Given the description of an element on the screen output the (x, y) to click on. 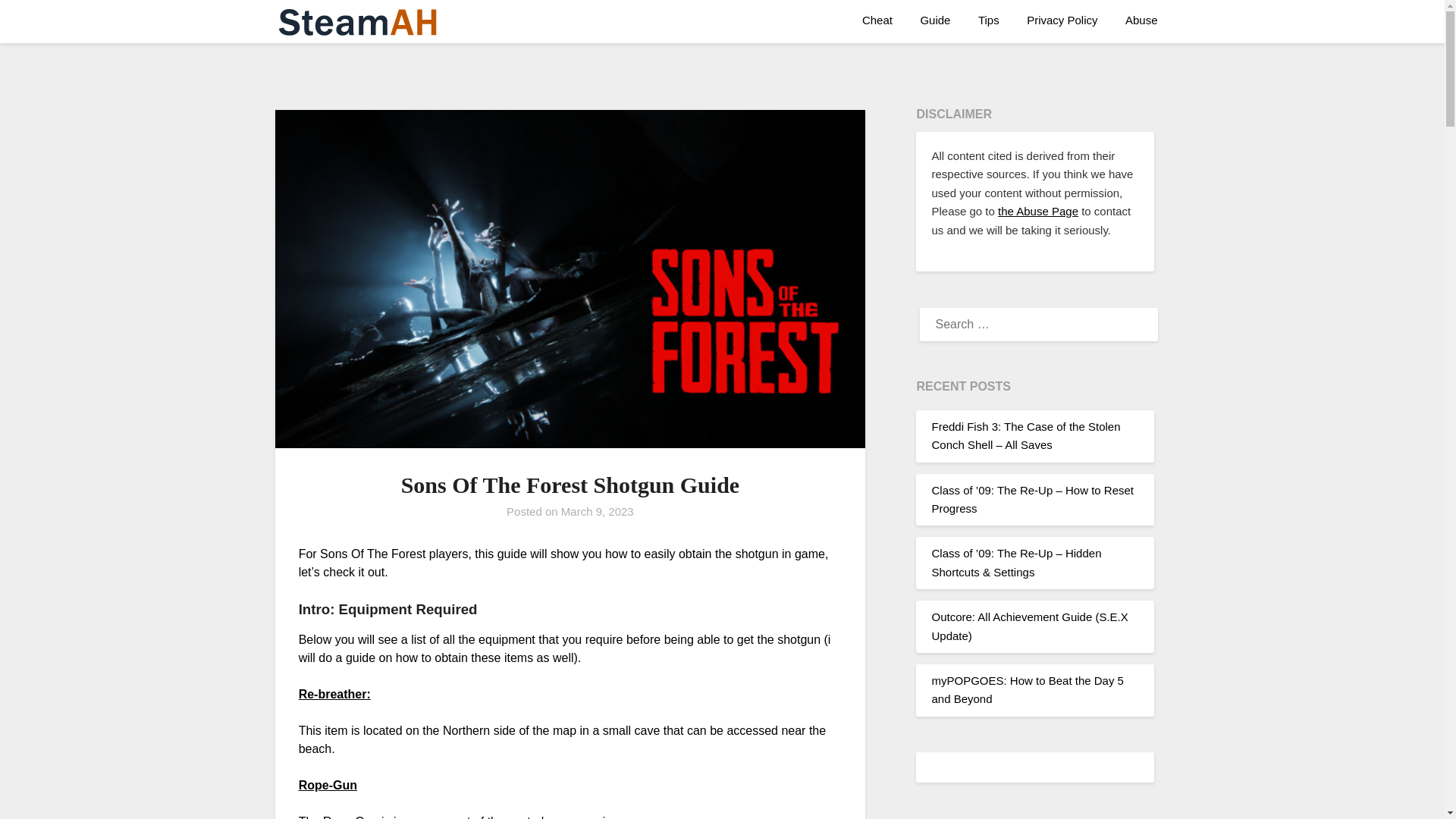
the Abuse Page (1037, 210)
Guide (934, 20)
Tips (988, 20)
Cheat (877, 20)
Abuse (1141, 20)
Privacy Policy (1061, 20)
myPOPGOES: How to Beat the Day 5 and Beyond (1026, 689)
Search (38, 22)
March 9, 2023 (596, 511)
